Given the description of an element on the screen output the (x, y) to click on. 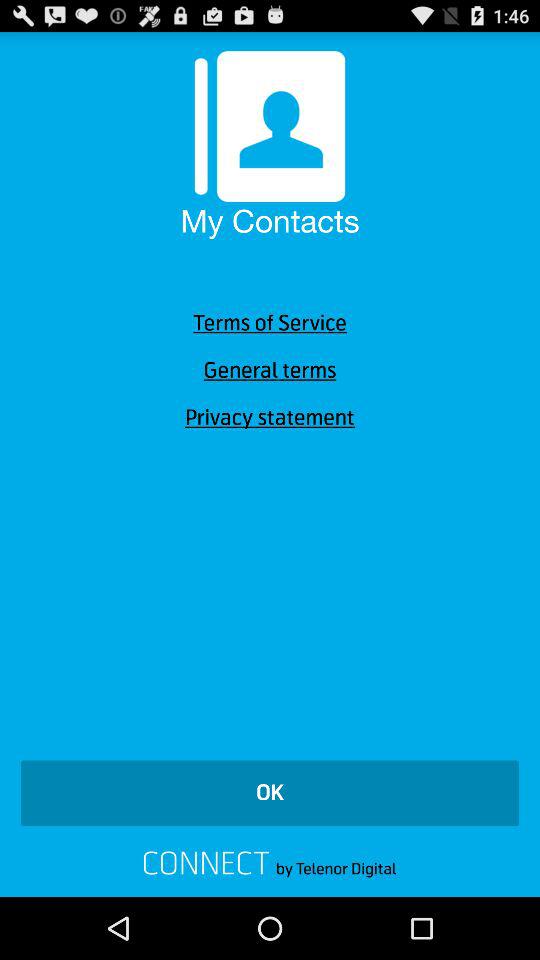
select item below my contacts (270, 323)
